Given the description of an element on the screen output the (x, y) to click on. 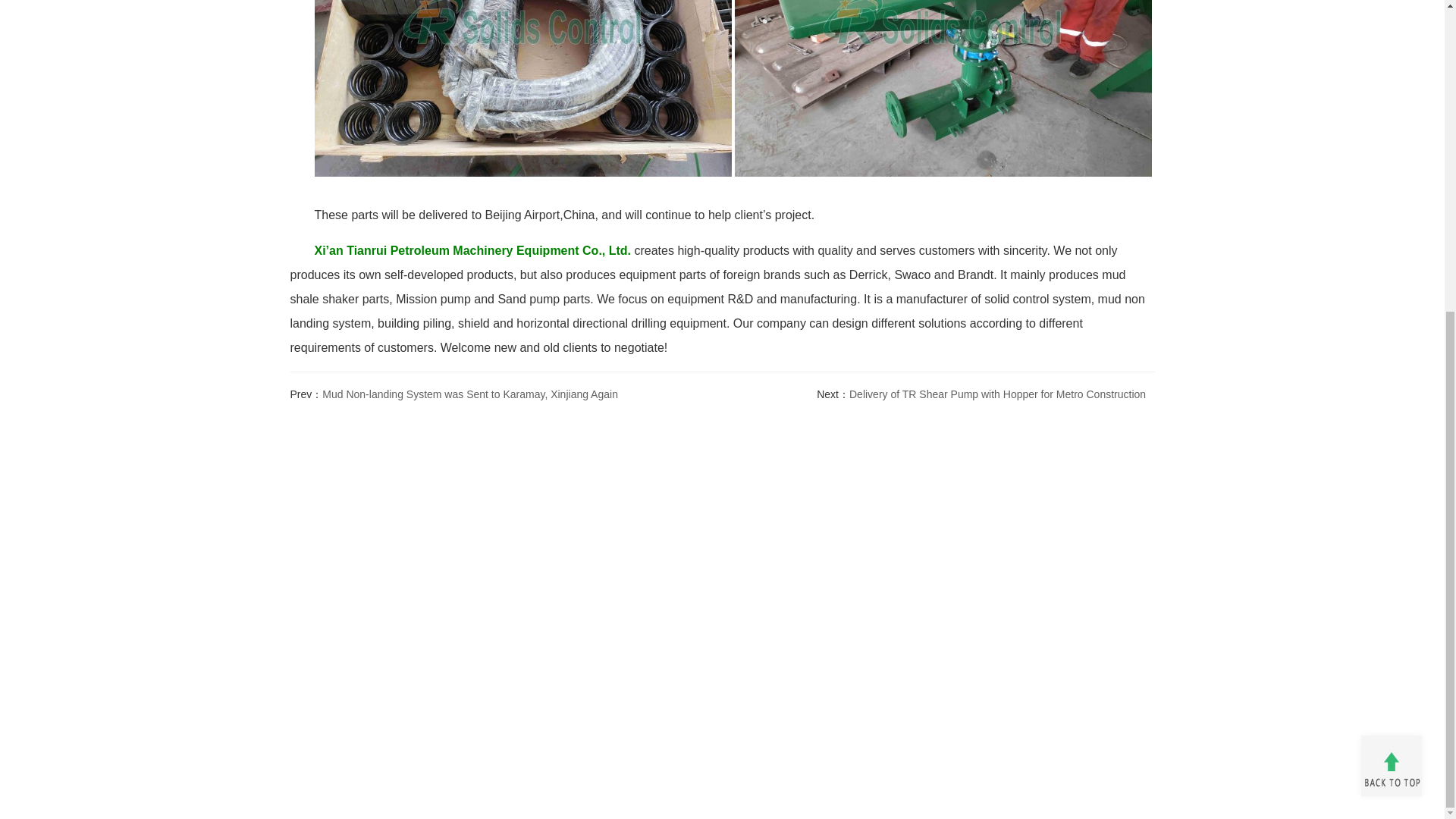
Delivery of TR Shear Pump with Hopper for Metro Construction (996, 394)
Mud Non-landing System was Sent to Karamay, Xinjiang Again (469, 394)
TRSLH100 mud hopper (943, 95)
